Given the description of an element on the screen output the (x, y) to click on. 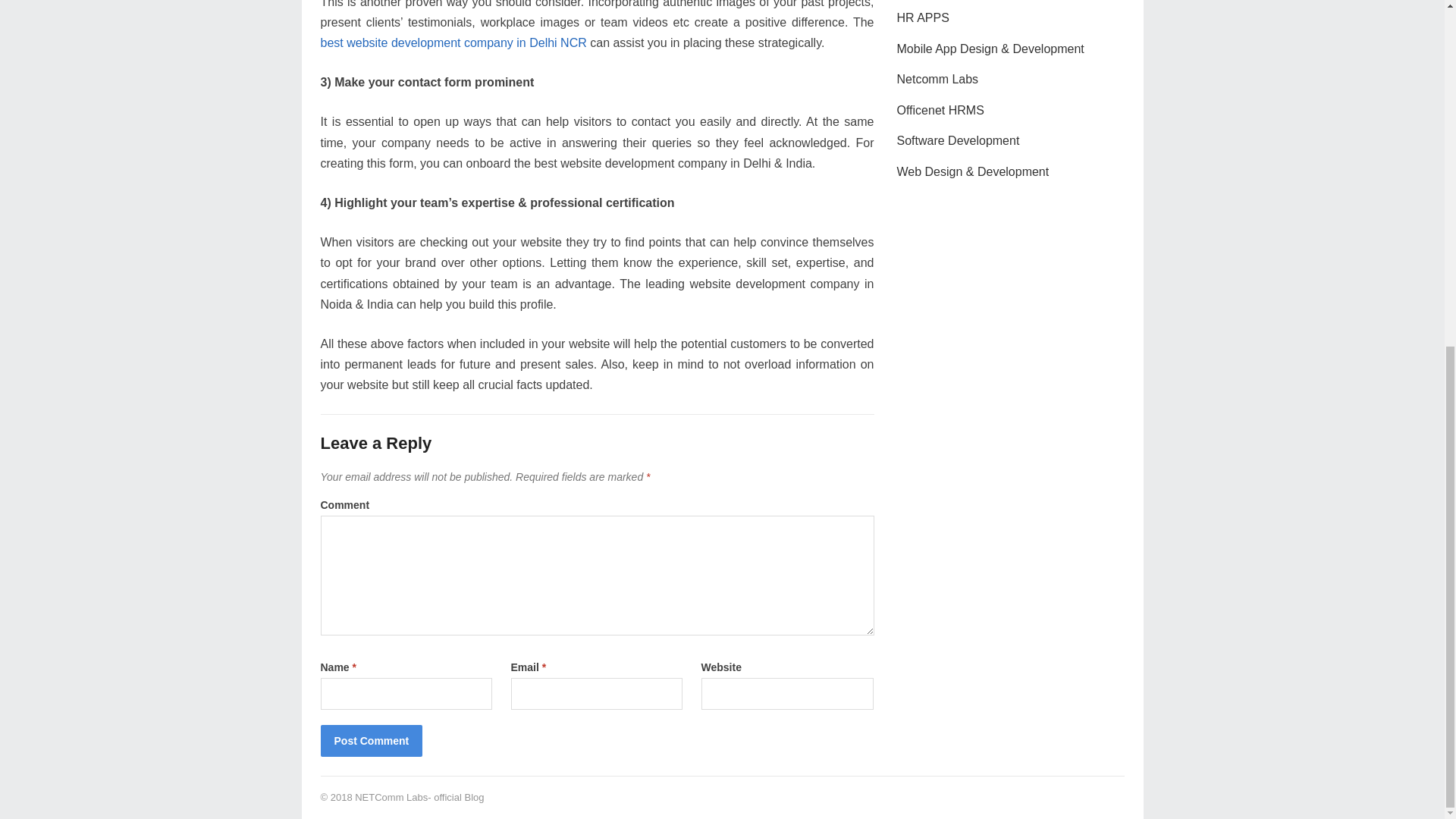
NETComm Labs- official Blog (419, 797)
Post Comment (371, 740)
Officenet HRMS (940, 110)
HR APPS (922, 17)
Software Development (957, 140)
Netcomm Labs (937, 78)
Post Comment (371, 740)
best website development company in Delhi NCR (453, 42)
